Given the description of an element on the screen output the (x, y) to click on. 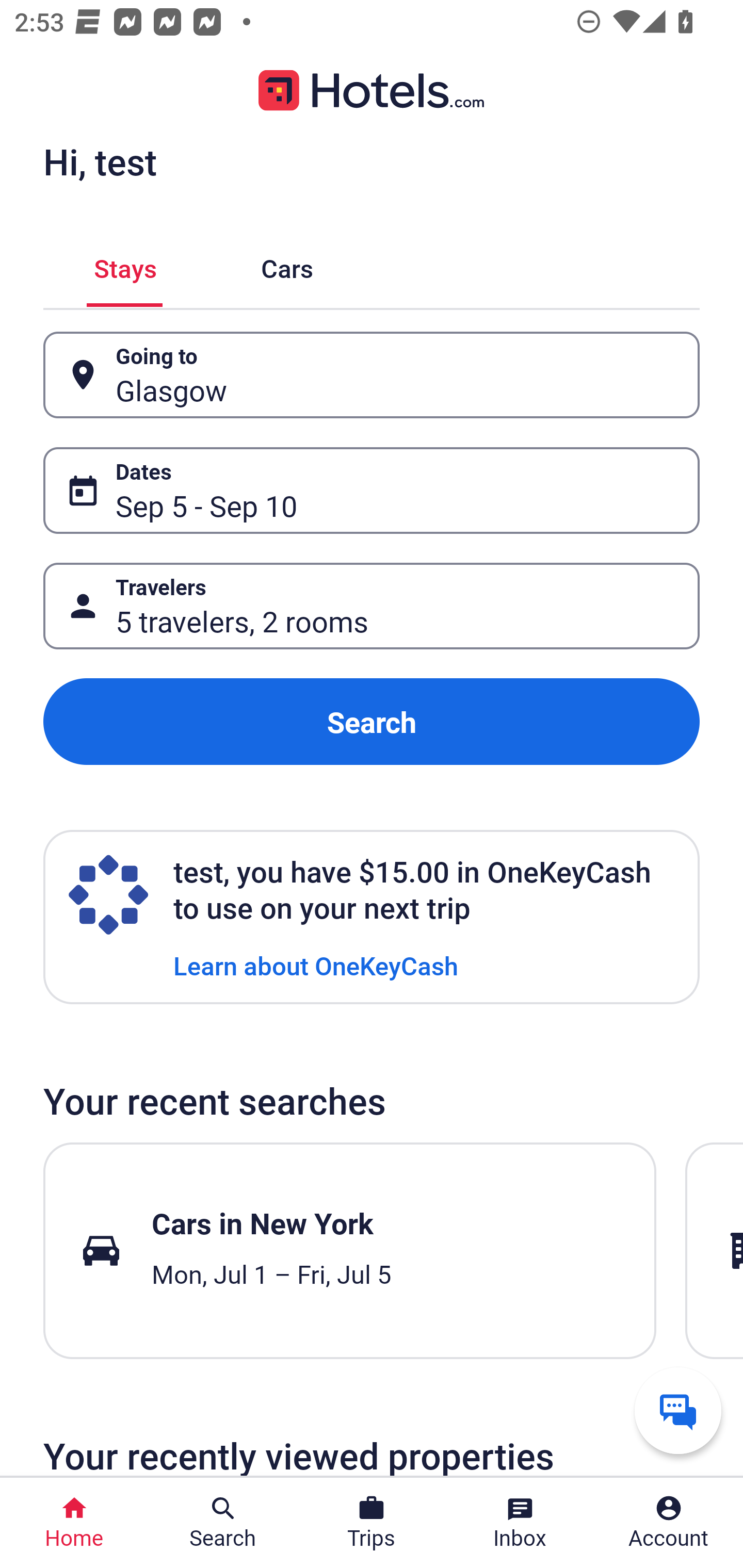
Hi, test (99, 161)
Cars (286, 265)
Going to Button Glasgow (371, 375)
Dates Button Sep 5 - Sep 10 (371, 489)
Travelers Button 5 travelers, 2 rooms (371, 605)
Search (371, 721)
Learn about OneKeyCash Learn about OneKeyCash Link (315, 964)
Get help from a virtual agent (677, 1410)
Search Search Button (222, 1522)
Trips Trips Button (371, 1522)
Inbox Inbox Button (519, 1522)
Account Profile. Button (668, 1522)
